Given the description of an element on the screen output the (x, y) to click on. 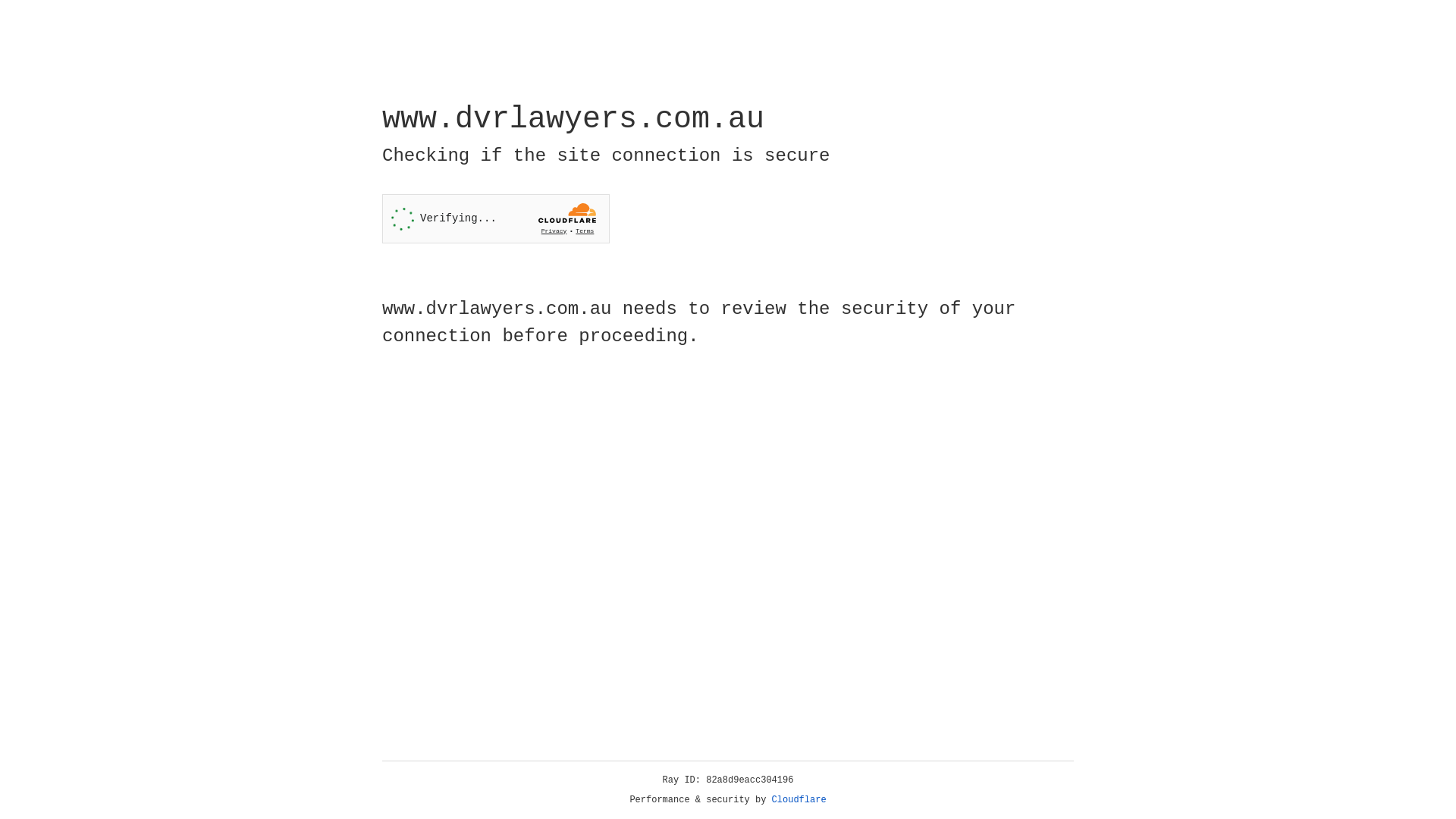
Widget containing a Cloudflare security challenge Element type: hover (495, 218)
Cloudflare Element type: text (798, 799)
